Given the description of an element on the screen output the (x, y) to click on. 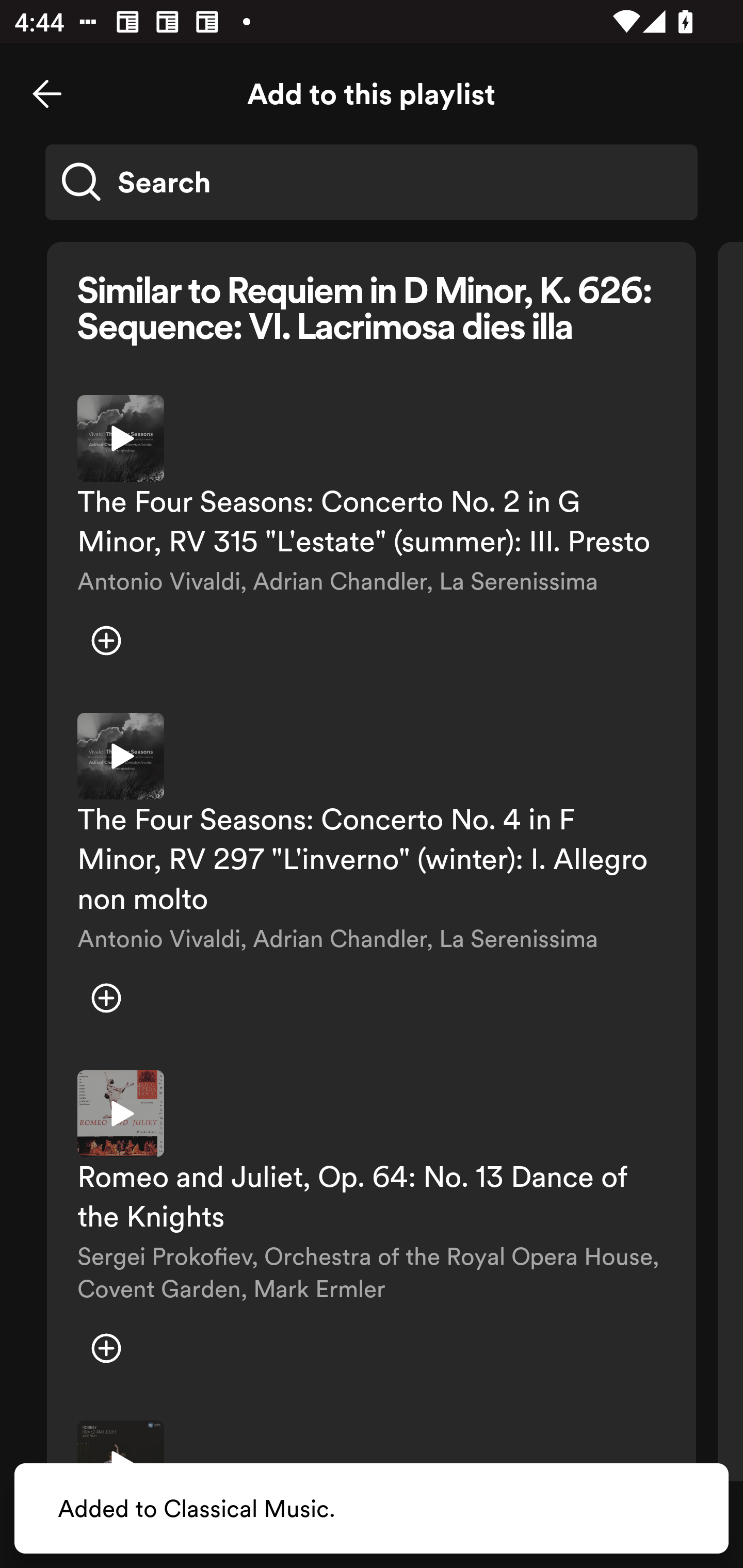
Close (46, 93)
Search (371, 181)
Play preview (120, 438)
Add item (106, 640)
Play preview (120, 756)
Add item (106, 997)
Play preview (120, 1113)
Add item (106, 1348)
